Given the description of an element on the screen output the (x, y) to click on. 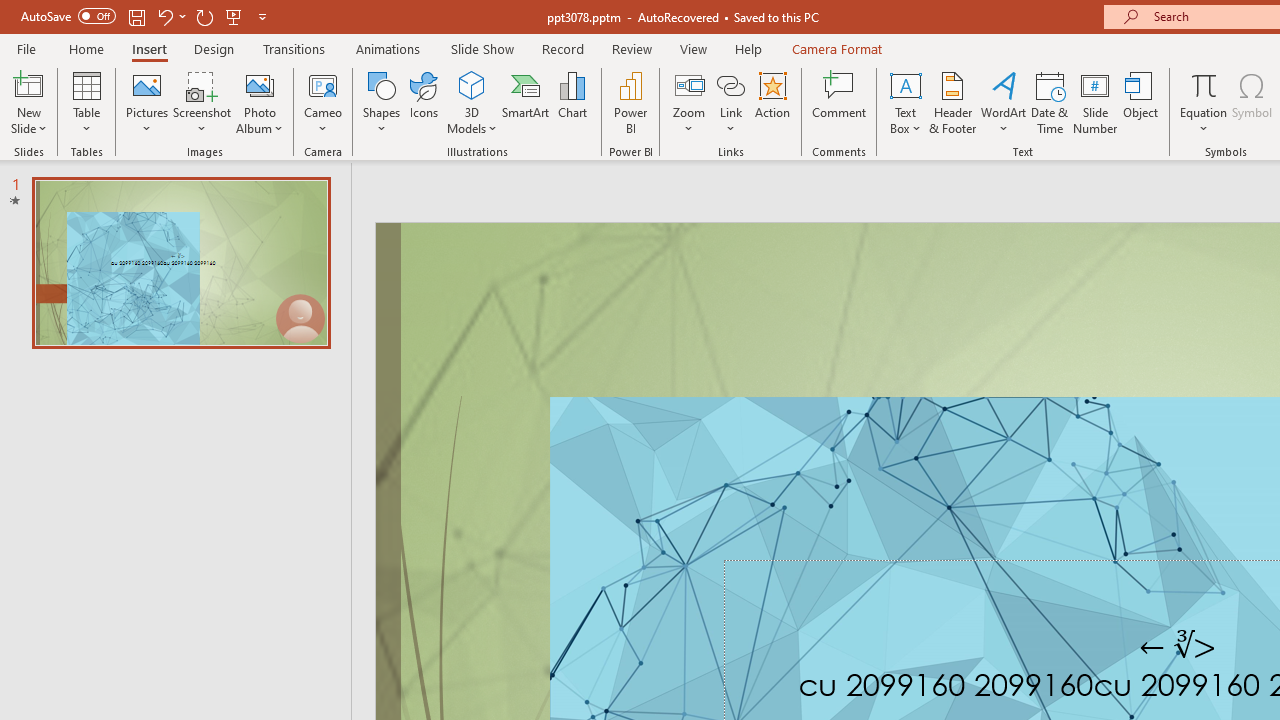
Camera Format (836, 48)
Equation (1203, 102)
Link (731, 84)
3D Models (472, 102)
Chart... (572, 102)
